Given the description of an element on the screen output the (x, y) to click on. 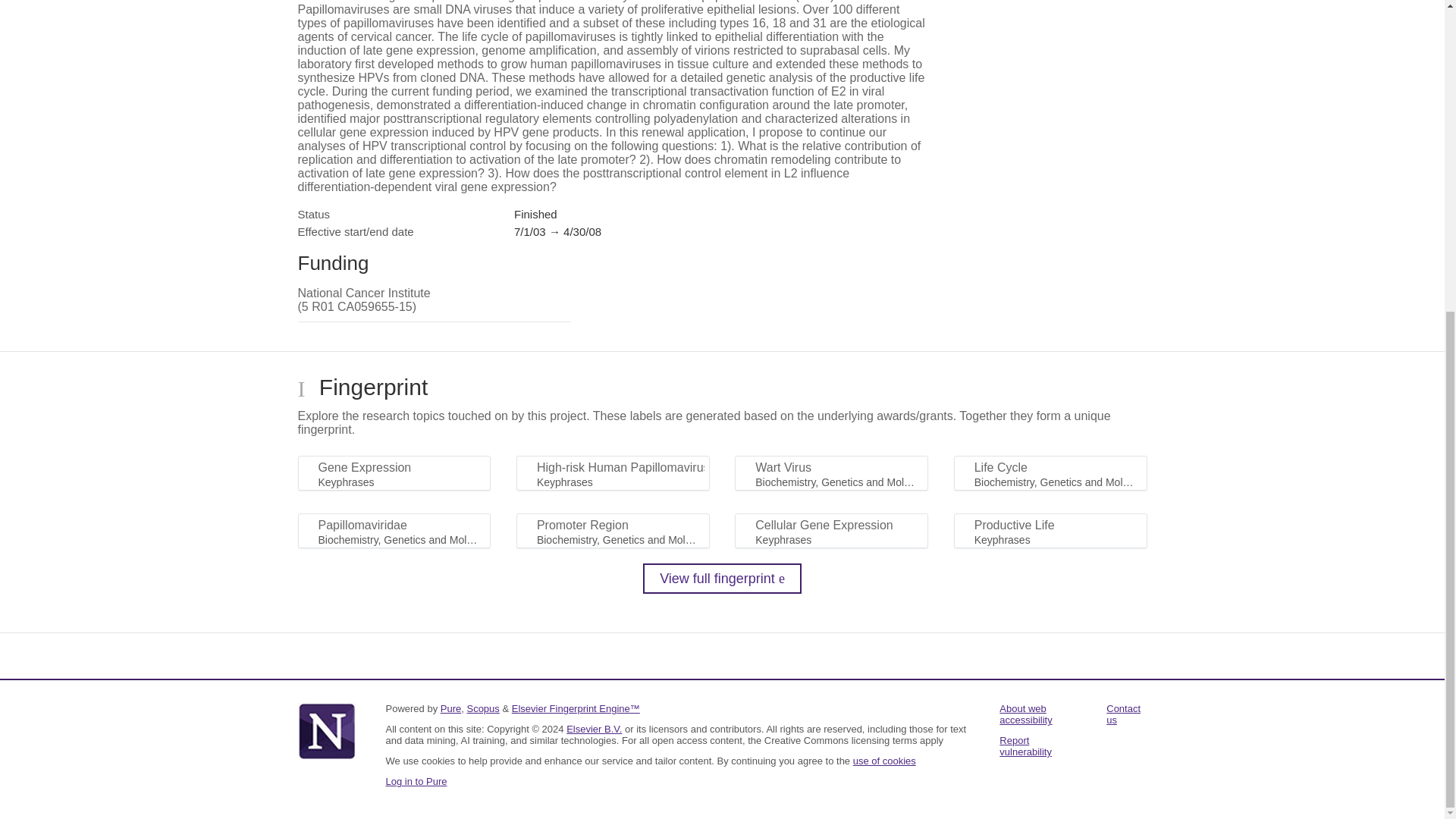
Pure (451, 708)
About web accessibility (1024, 713)
View full fingerprint (722, 578)
Report vulnerability (1024, 745)
Log in to Pure (415, 781)
Contact us (1123, 713)
Scopus (482, 708)
use of cookies (884, 760)
Elsevier B.V. (593, 728)
